Given the description of an element on the screen output the (x, y) to click on. 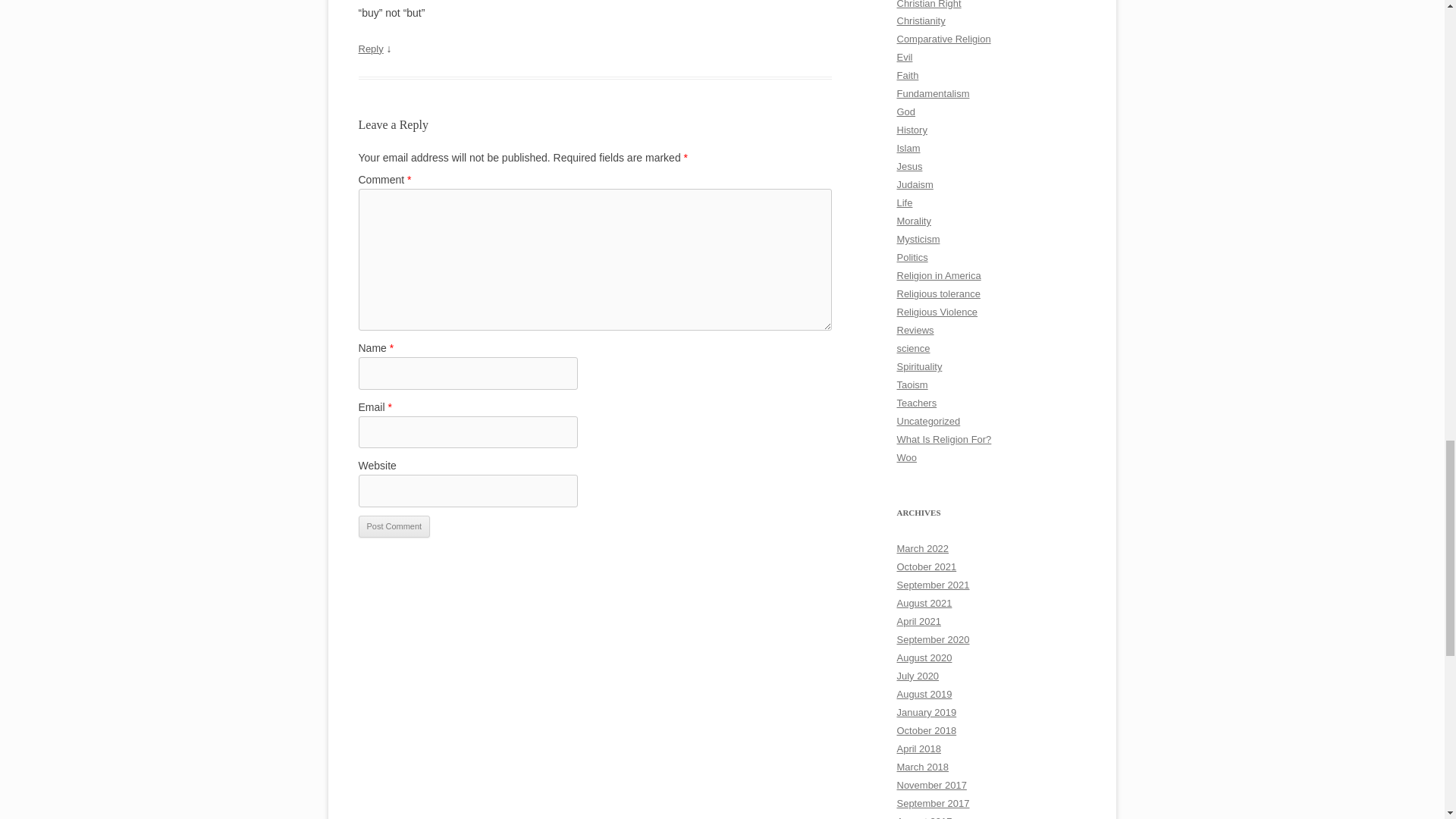
Reply (370, 48)
Post Comment (393, 526)
Post Comment (393, 526)
